Given the description of an element on the screen output the (x, y) to click on. 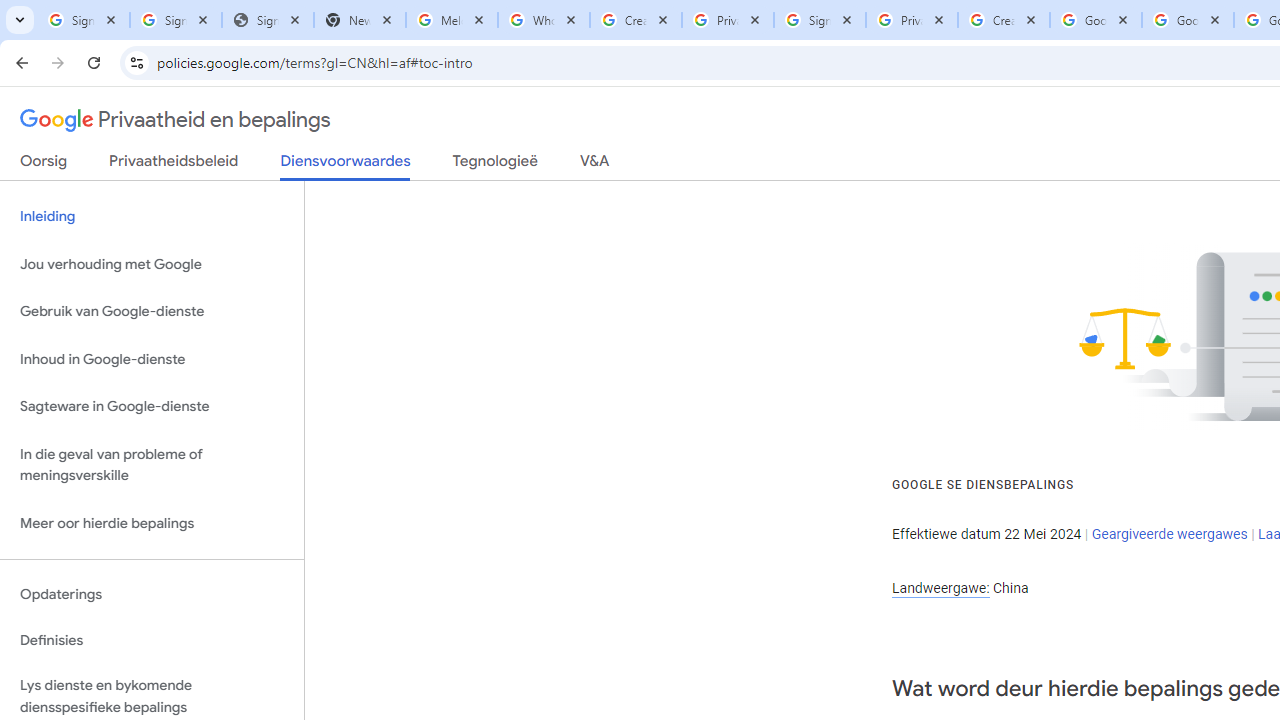
Sign in - Google Accounts (175, 20)
Create your Google Account (636, 20)
Jou verhouding met Google (152, 263)
Geargiveerde weergawes (1169, 533)
Sign in - Google Accounts (820, 20)
Inleiding (152, 216)
Create your Google Account (1003, 20)
New Tab (359, 20)
Meer oor hierdie bepalings (152, 522)
